Given the description of an element on the screen output the (x, y) to click on. 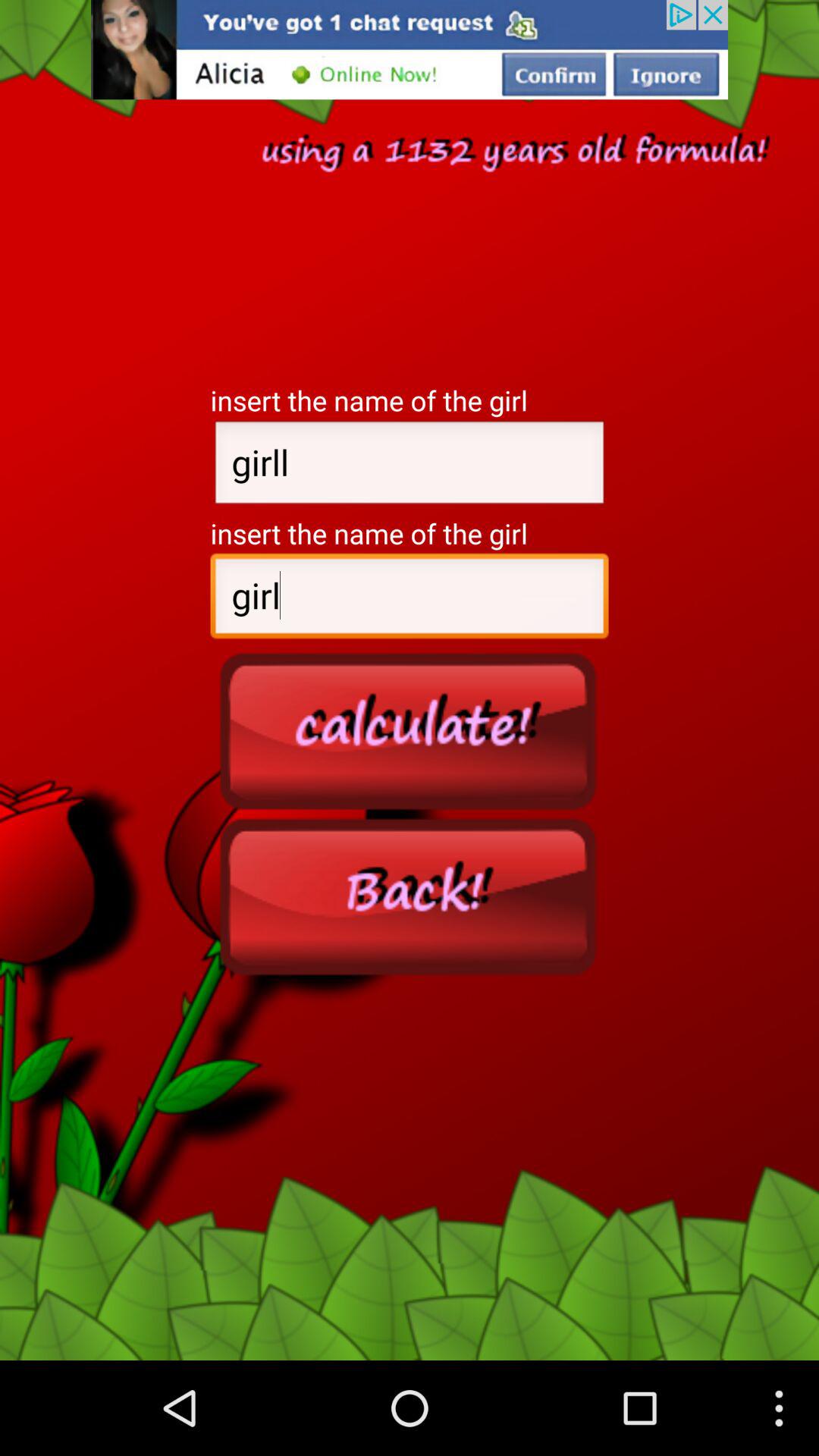
calculate using formula (409, 730)
